Given the description of an element on the screen output the (x, y) to click on. 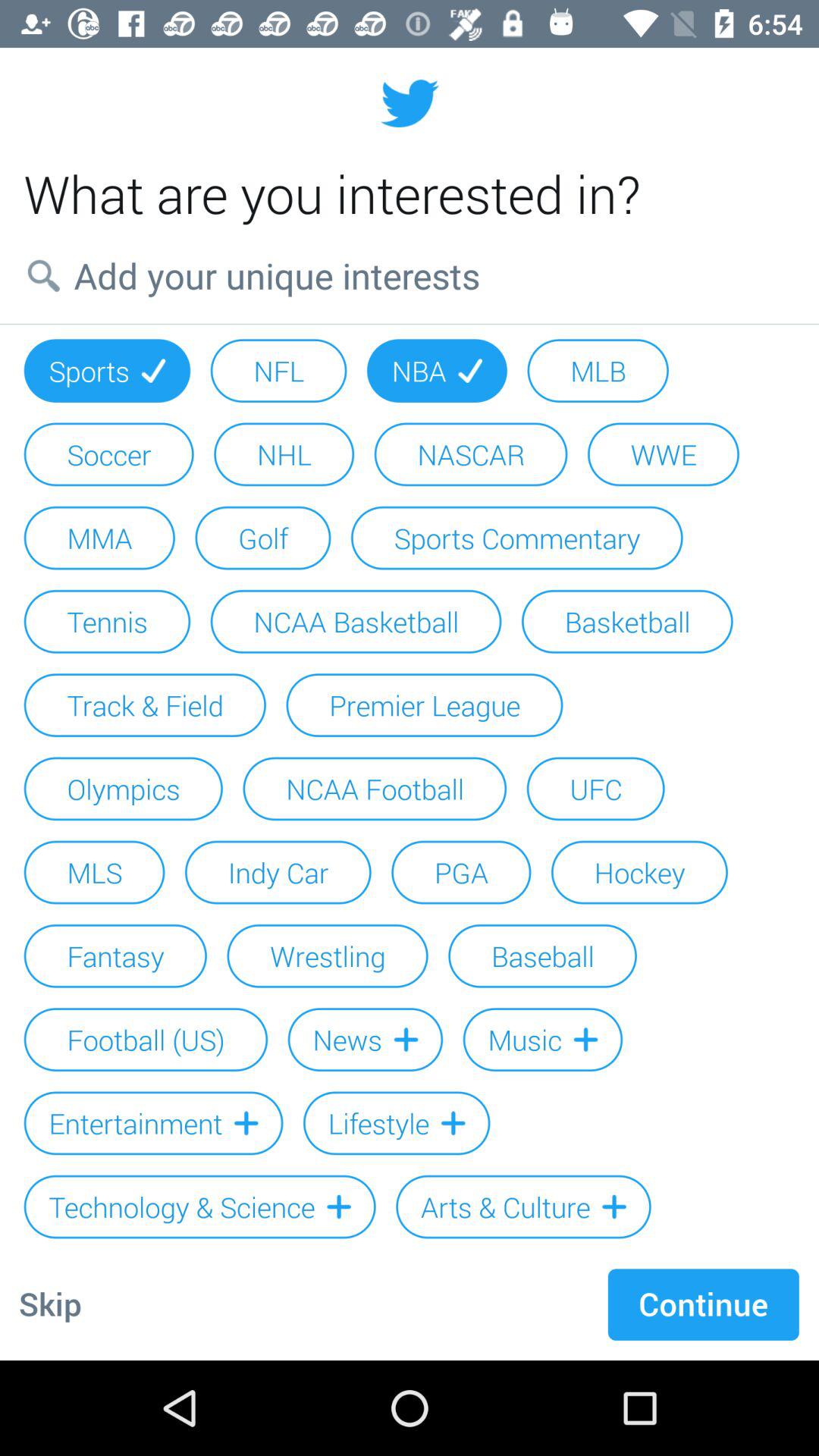
select item above the nascar (436, 370)
